Given the description of an element on the screen output the (x, y) to click on. 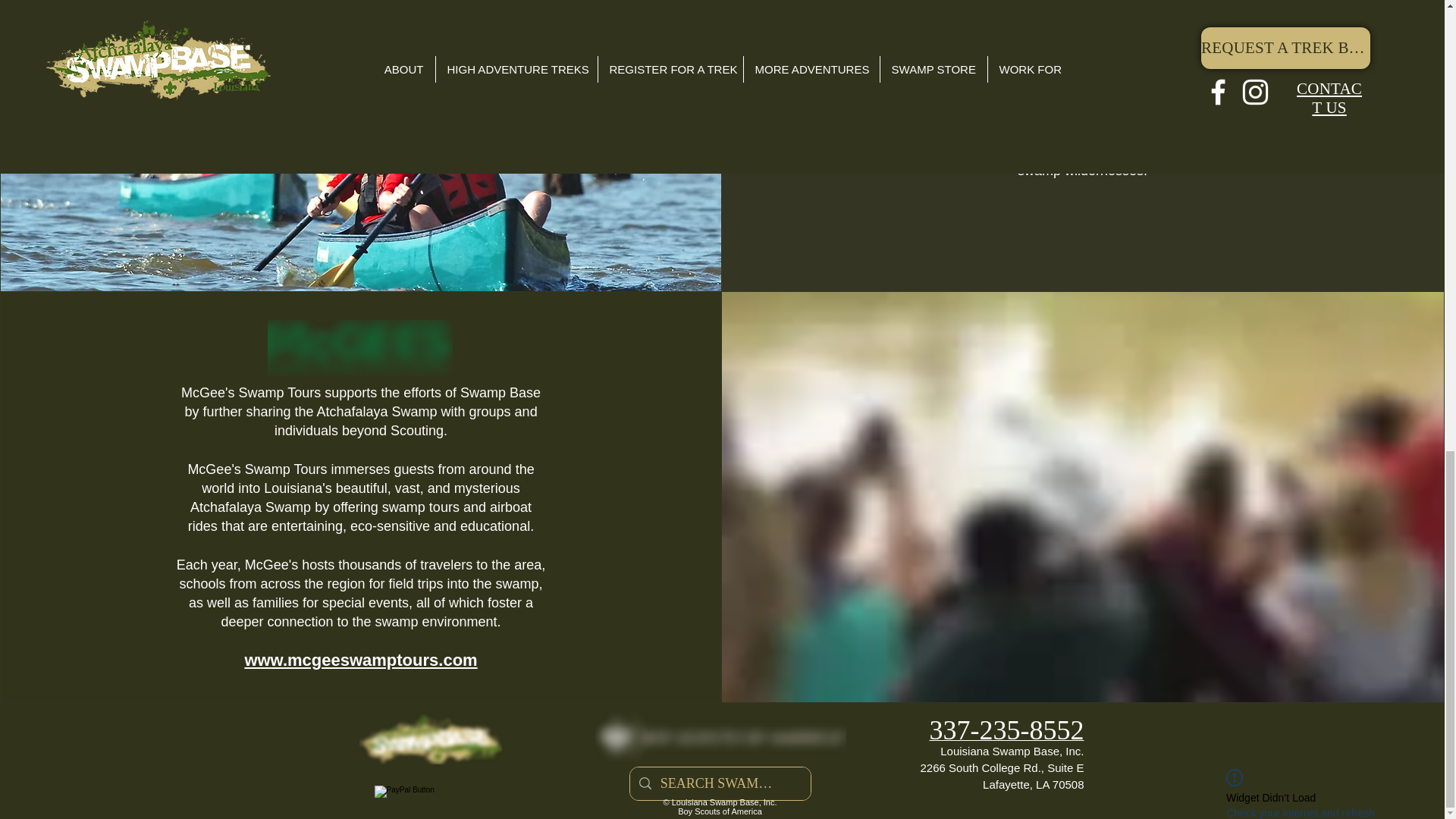
www.mcgeeswamptours.com (360, 659)
337-235-8552 (1007, 734)
